Given the description of an element on the screen output the (x, y) to click on. 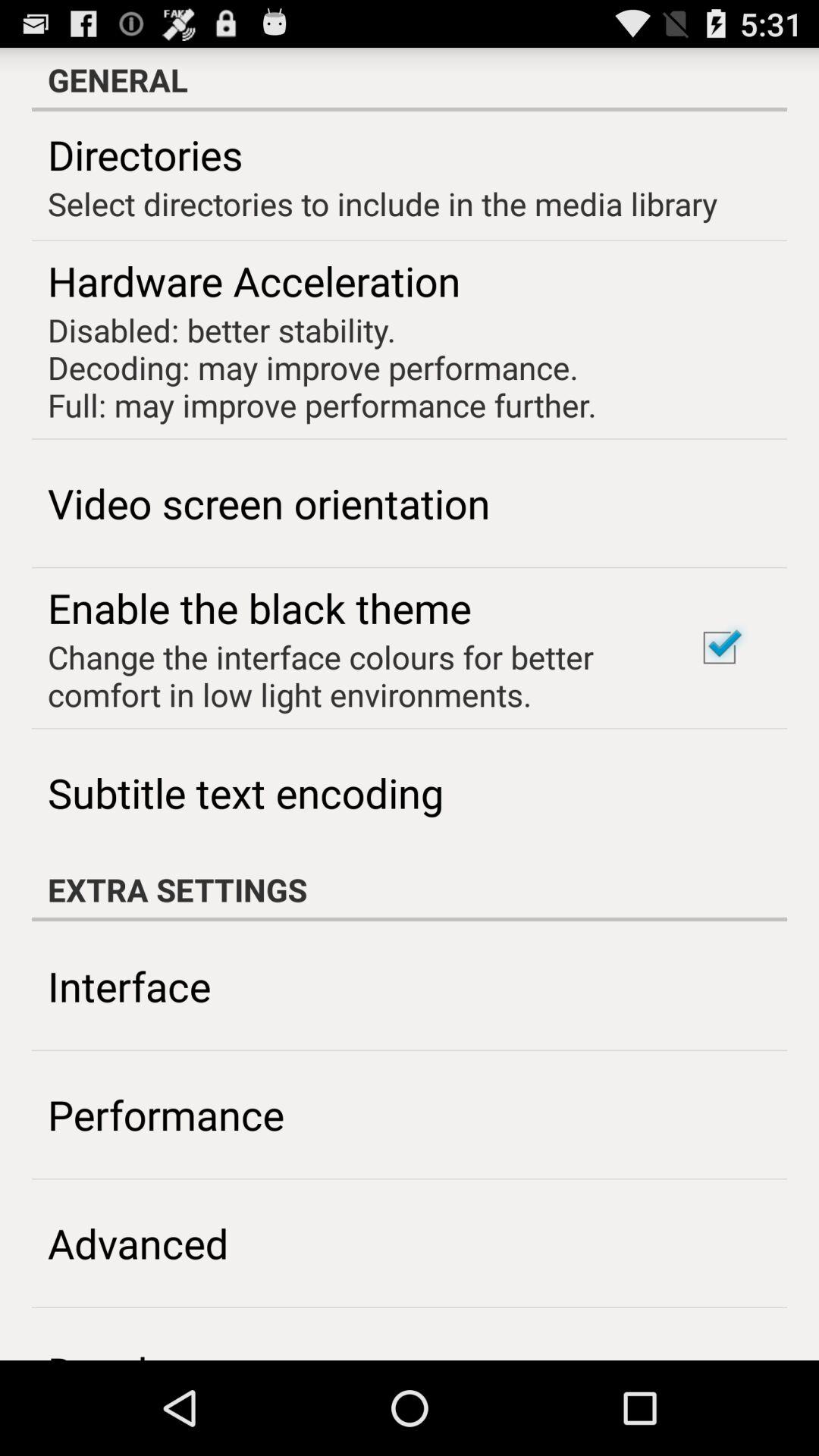
scroll to the disabled better stability item (321, 367)
